Given the description of an element on the screen output the (x, y) to click on. 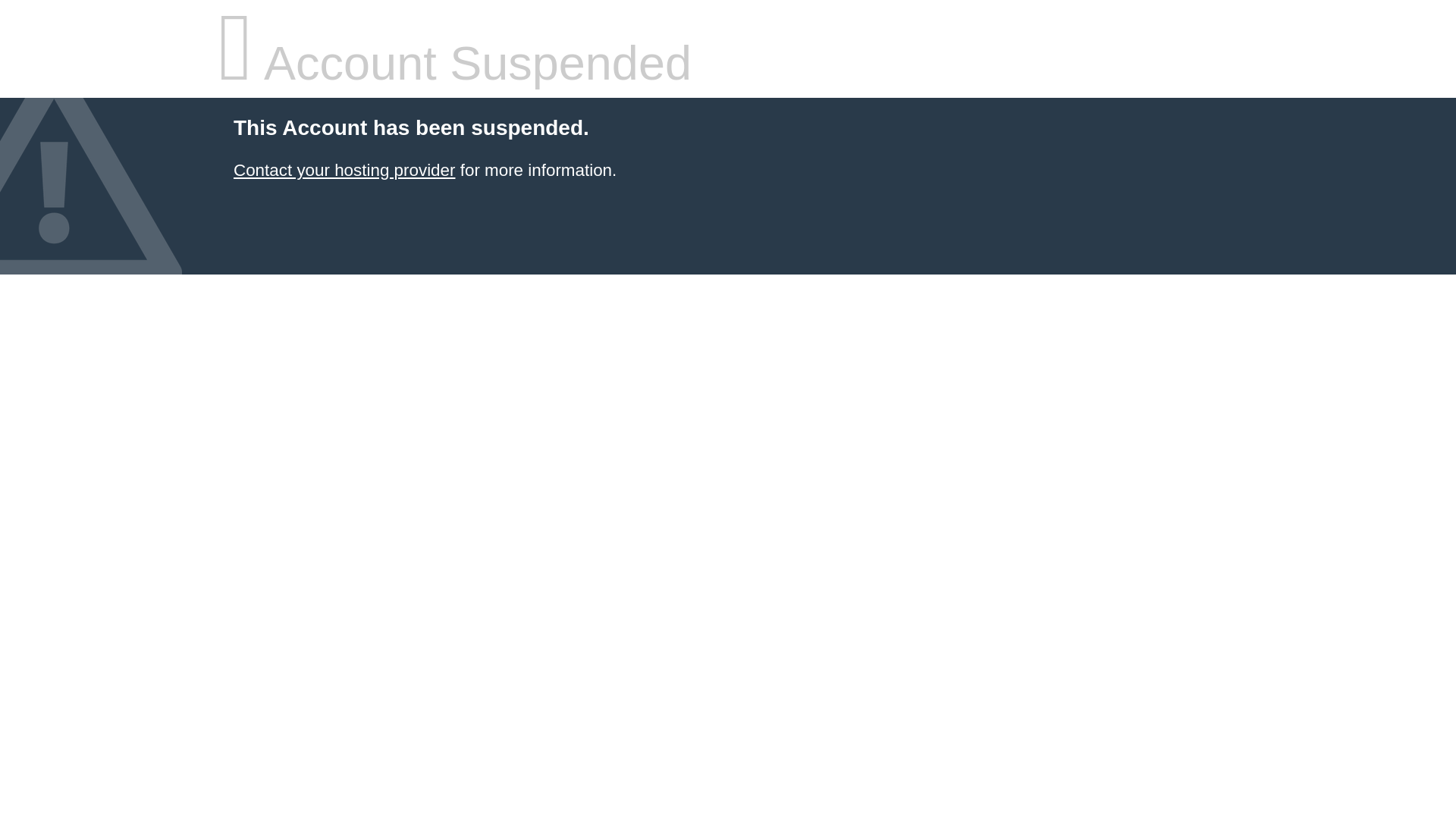
Contact your hosting provider (343, 169)
